Given the description of an element on the screen output the (x, y) to click on. 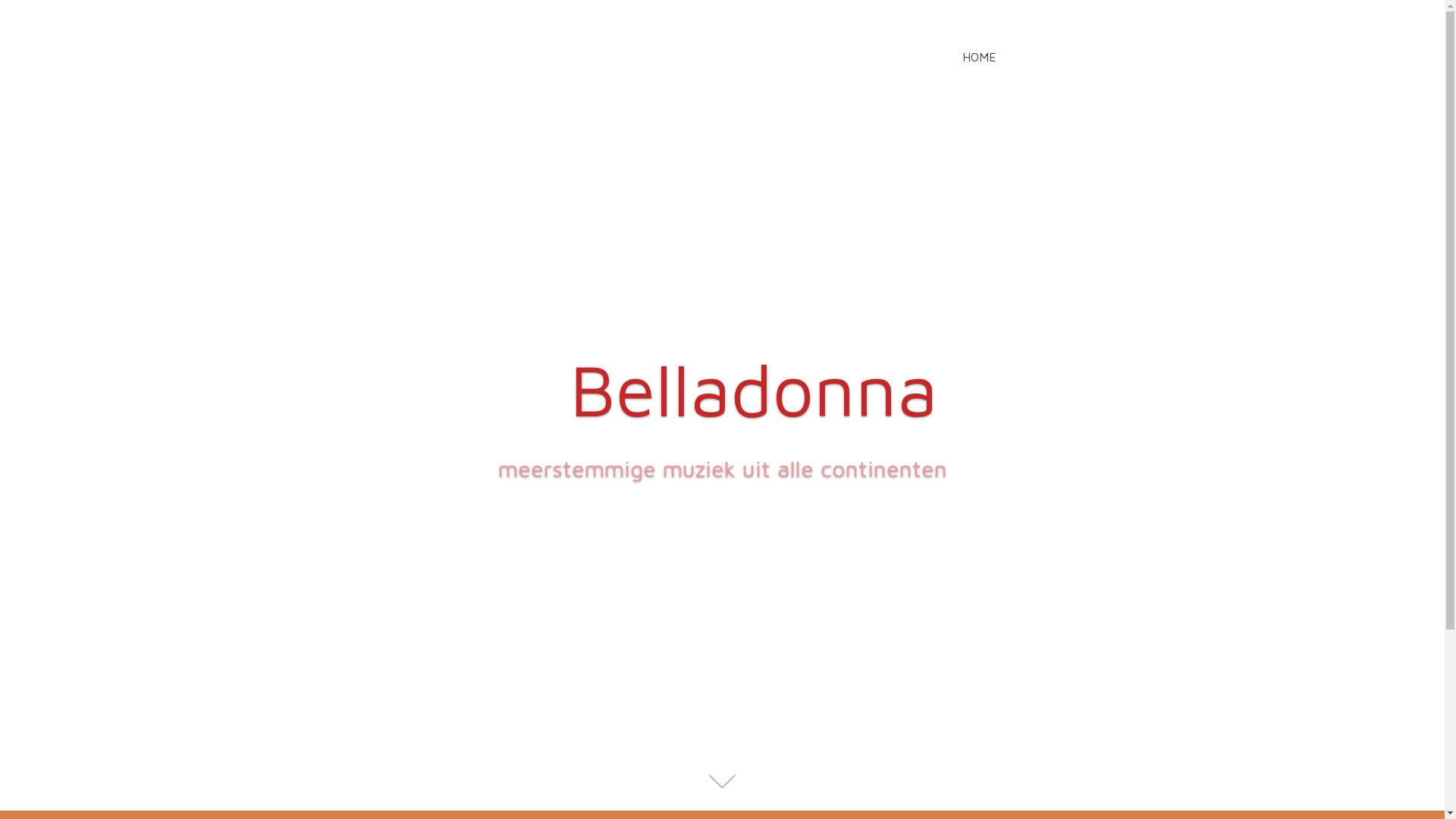
MEDIA Element type: text (1263, 56)
HOME Element type: text (979, 56)
WIE IS WIE Element type: text (1065, 56)
CONTACT Element type: text (1348, 56)
CONCERTEN Element type: text (1171, 56)
